Given the description of an element on the screen output the (x, y) to click on. 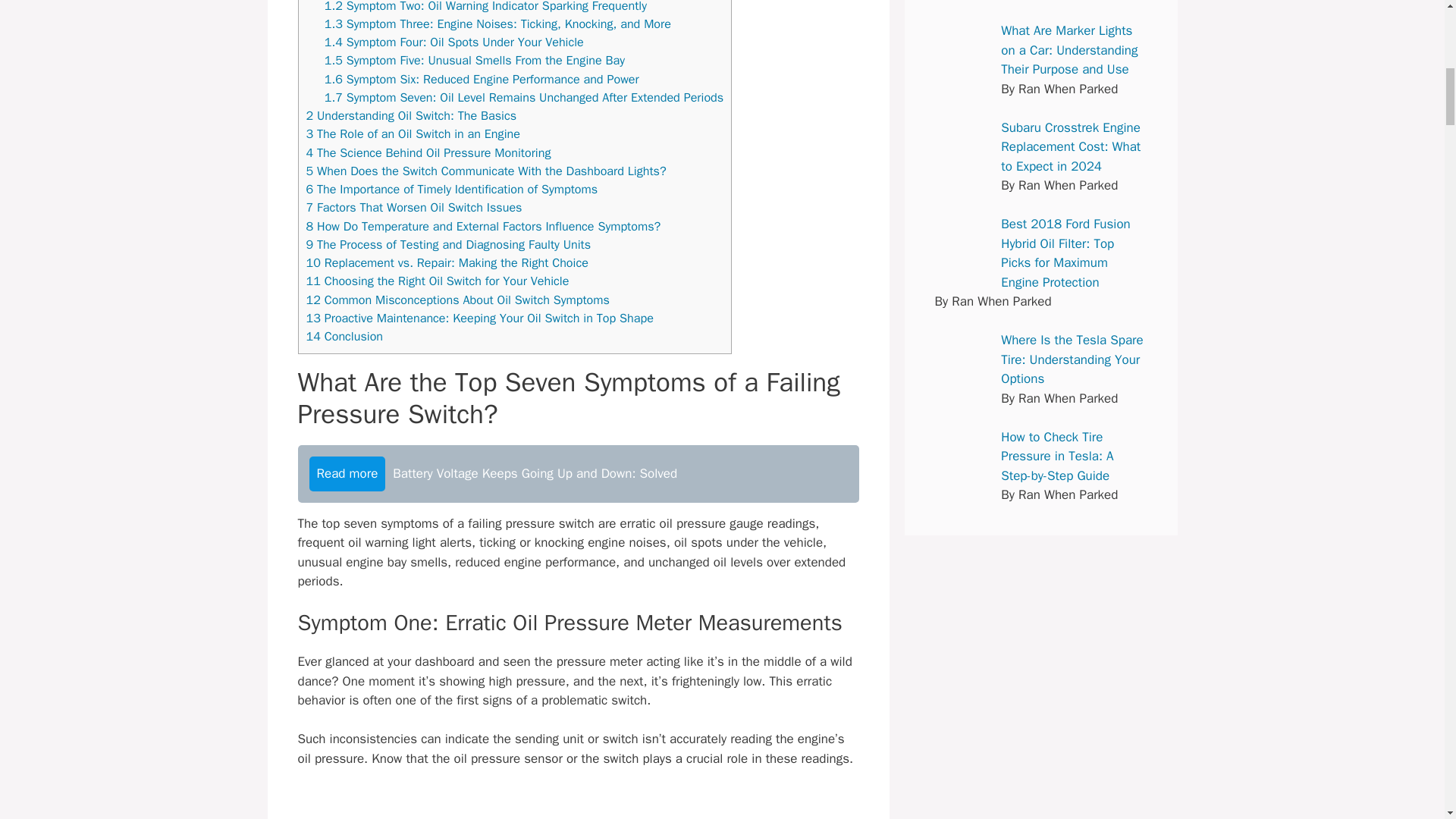
1.6 Symptom Six: Reduced Engine Performance and Power (481, 78)
2 Understanding Oil Switch: The Basics (410, 115)
3 The Role of an Oil Switch in an Engine (412, 133)
1.4 Symptom Four: Oil Spots Under Your Vehicle (453, 41)
1.2 Symptom Two: Oil Warning Indicator Sparking Frequently (485, 6)
1.5 Symptom Five: Unusual Smells From the Engine Bay (474, 59)
